Given the description of an element on the screen output the (x, y) to click on. 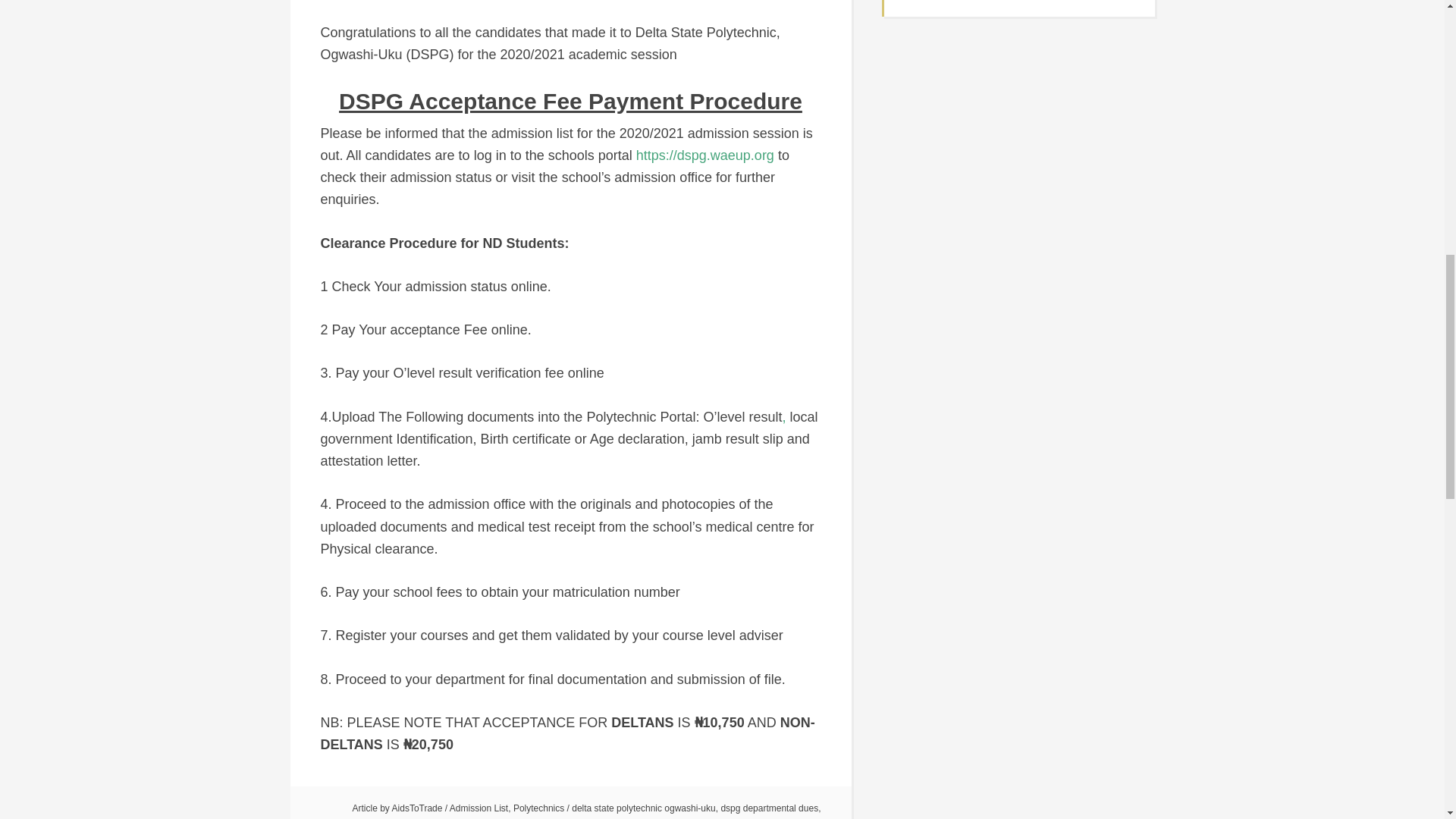
Leave a Comment (800, 818)
dspg portal (659, 818)
Polytechnics (538, 808)
delta state polytechnic ogwashi-uku (643, 808)
dspg hostel (496, 818)
dspg form (448, 818)
Admission List (478, 808)
dspg departmental dues (769, 808)
AidsToTrade (416, 808)
